Given the description of an element on the screen output the (x, y) to click on. 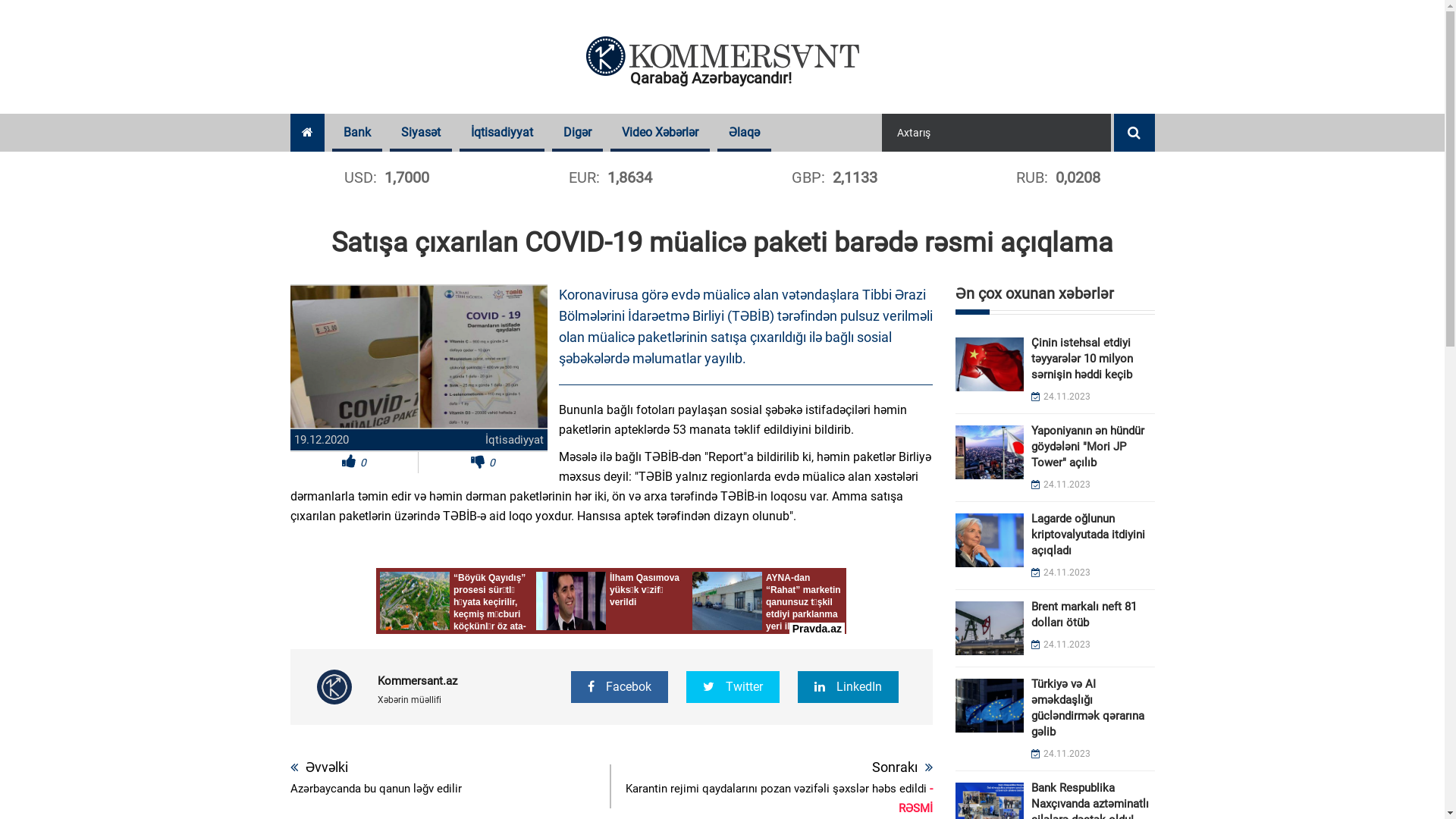
24.11.2023 Element type: text (1060, 396)
24.11.2023 Element type: text (1060, 753)
24.11.2023 Element type: text (1060, 484)
Facebok Element type: text (619, 686)
Twitter Element type: text (732, 686)
24.11.2023 Element type: text (1060, 572)
Bank Element type: text (357, 132)
Kommersant.az Element type: text (417, 680)
24.11.2023 Element type: text (1060, 644)
LinkedIn Element type: text (847, 686)
